Given the description of an element on the screen output the (x, y) to click on. 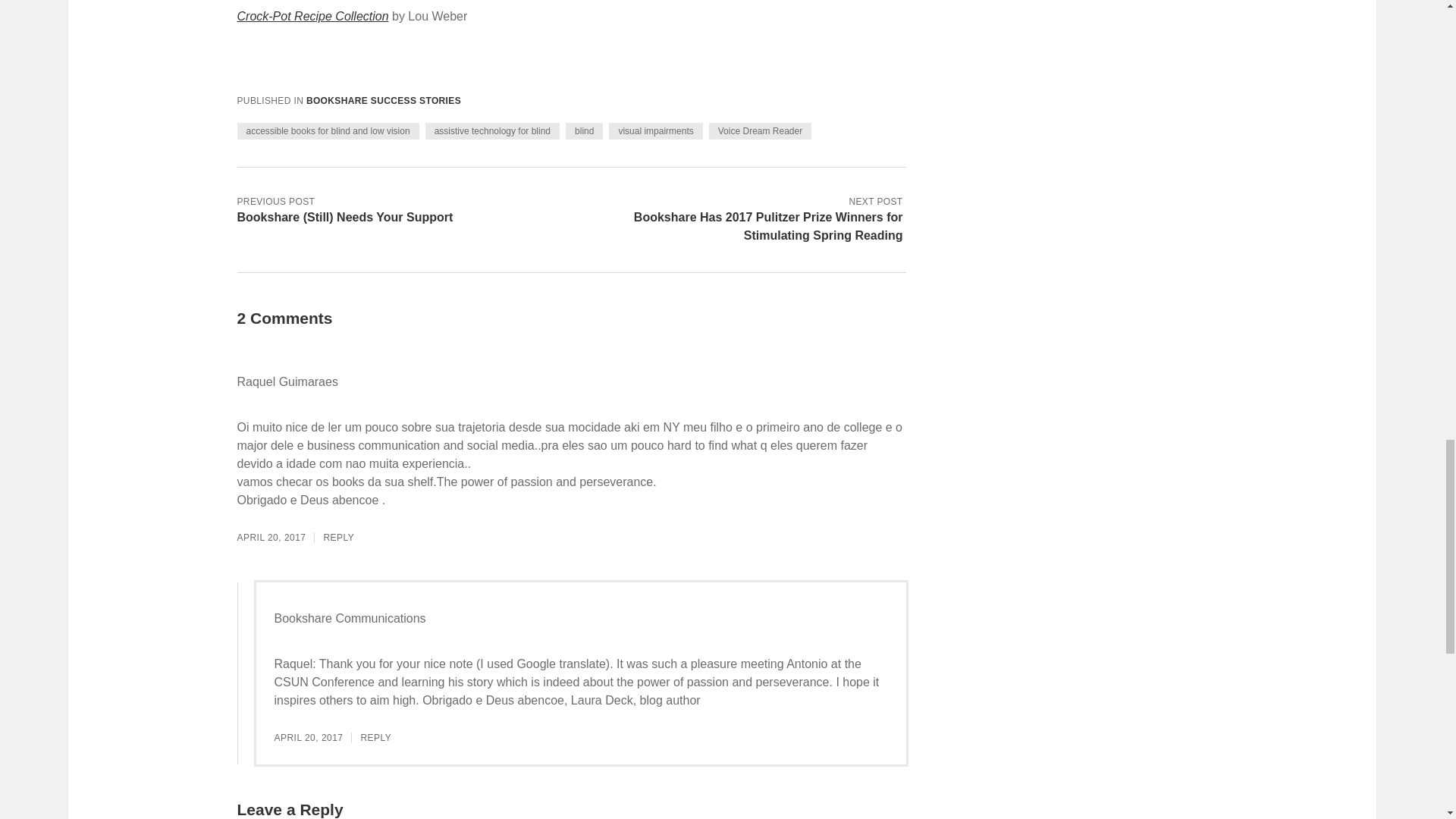
View all posts tagged visual impairments (654, 130)
REPLY (338, 537)
View all posts tagged blind (584, 130)
View all posts tagged Voice Dream Reader (759, 130)
blind (584, 130)
BOOKSHARE SUCCESS STORIES (383, 100)
assistive technology for blind (492, 130)
visual impairments (654, 130)
Voice Dream Reader (759, 130)
